Given the description of an element on the screen output the (x, y) to click on. 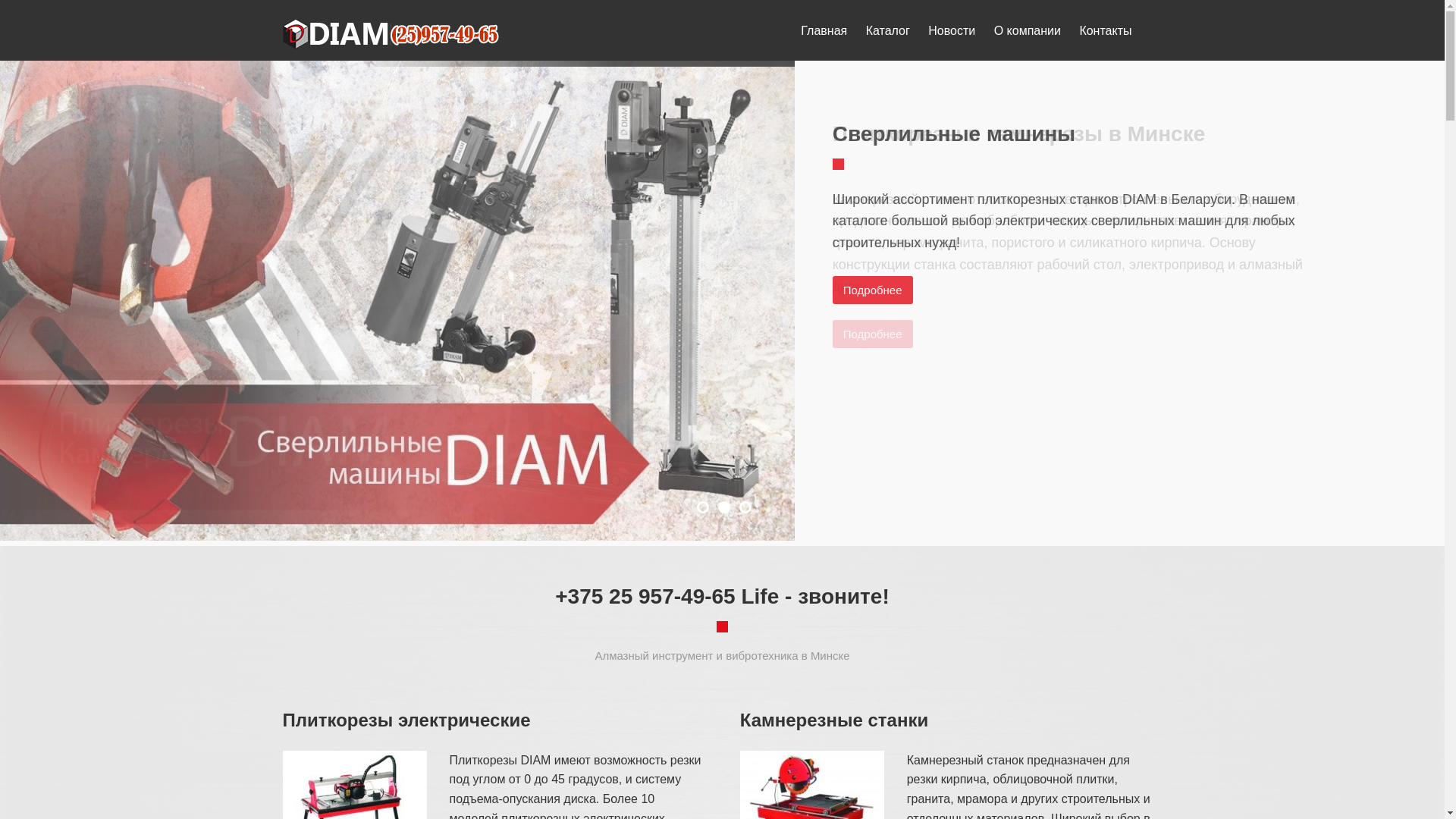
Diamir Element type: text (392, 33)
1 Element type: text (702, 507)
2 Element type: text (724, 507)
3 Element type: text (745, 507)
